Given the description of an element on the screen output the (x, y) to click on. 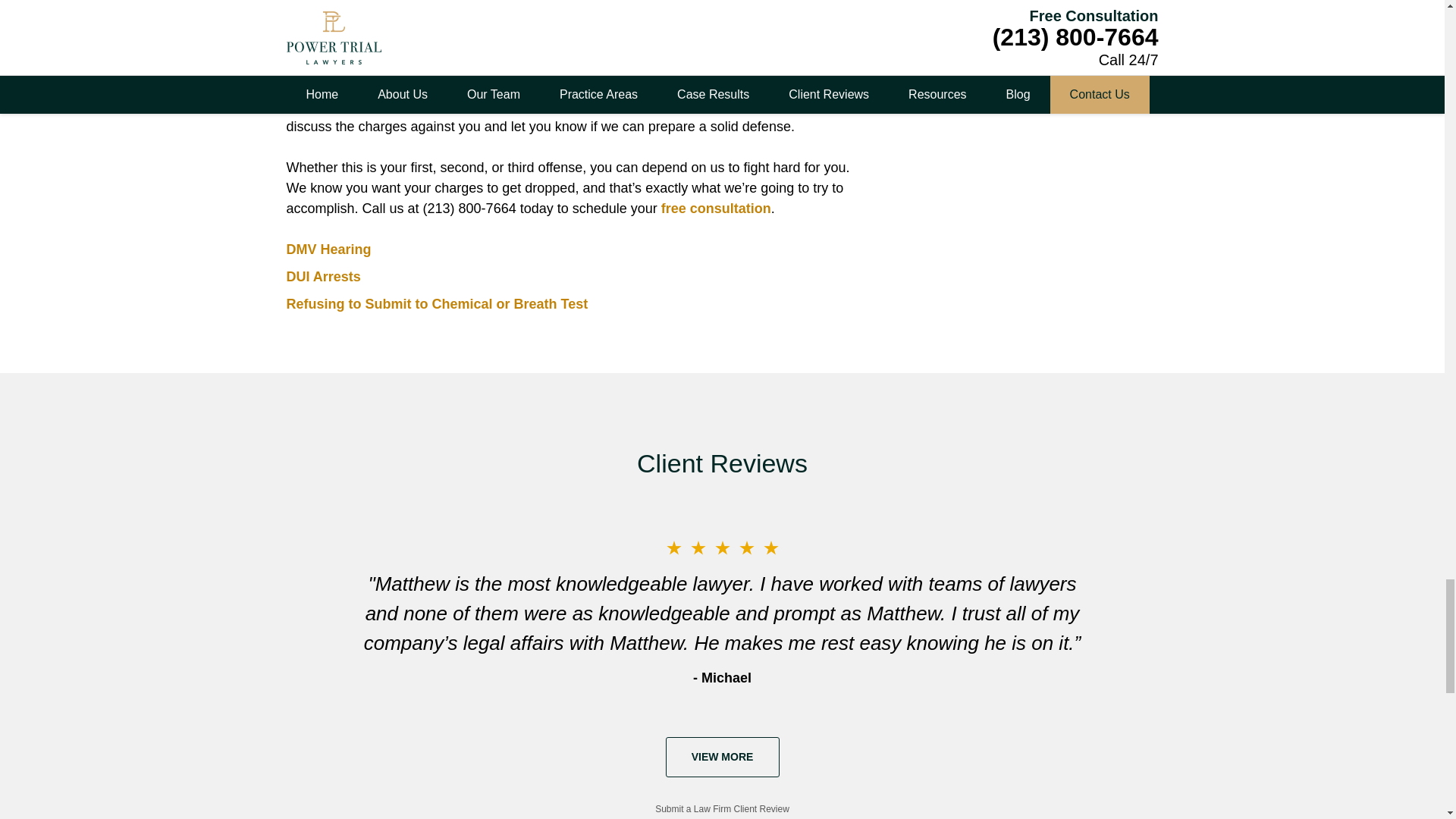
DMV Hearing (328, 249)
free consultation (716, 208)
